Given the description of an element on the screen output the (x, y) to click on. 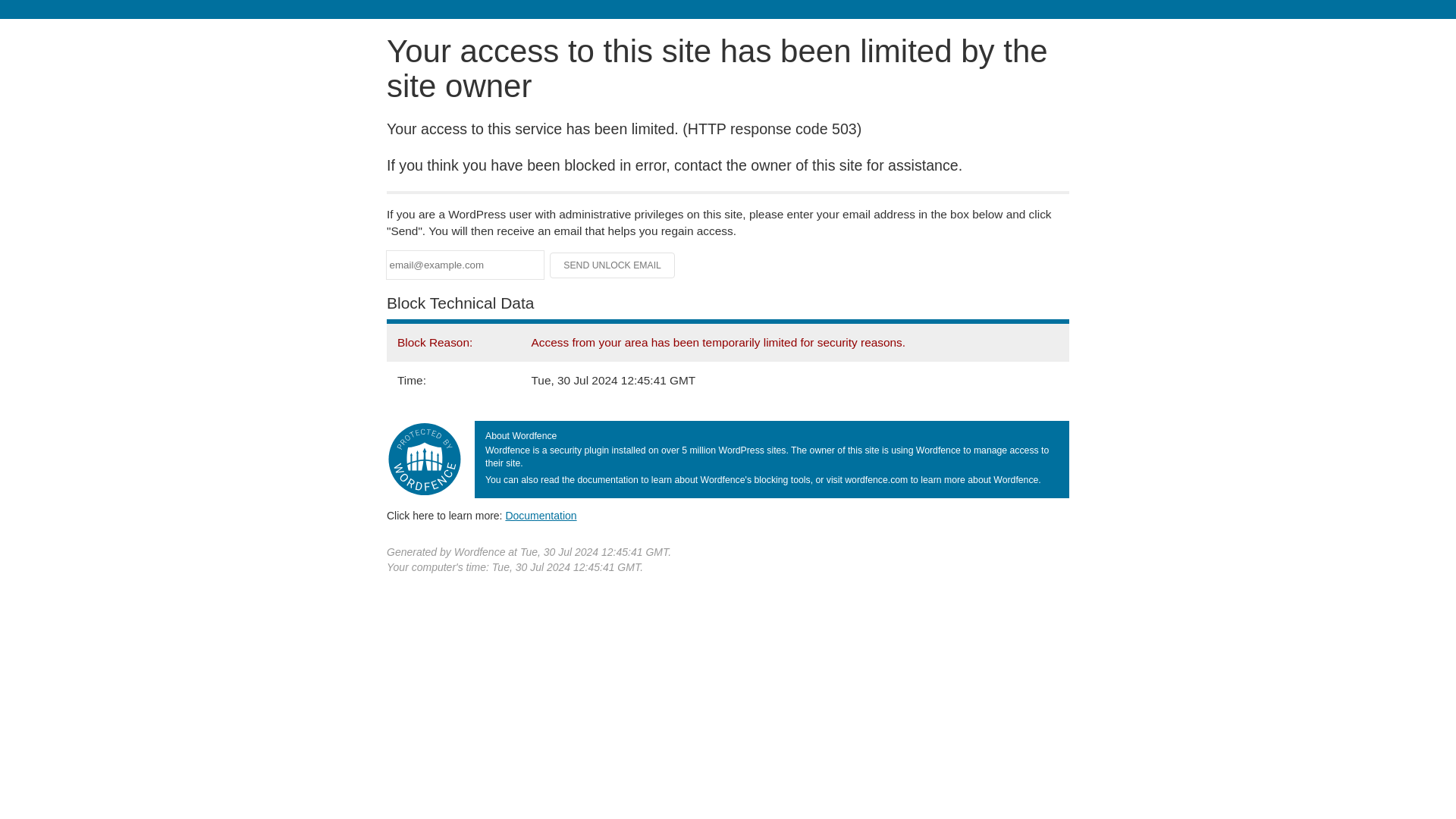
Send Unlock Email (612, 265)
Send Unlock Email (612, 265)
Documentation (540, 515)
